Given the description of an element on the screen output the (x, y) to click on. 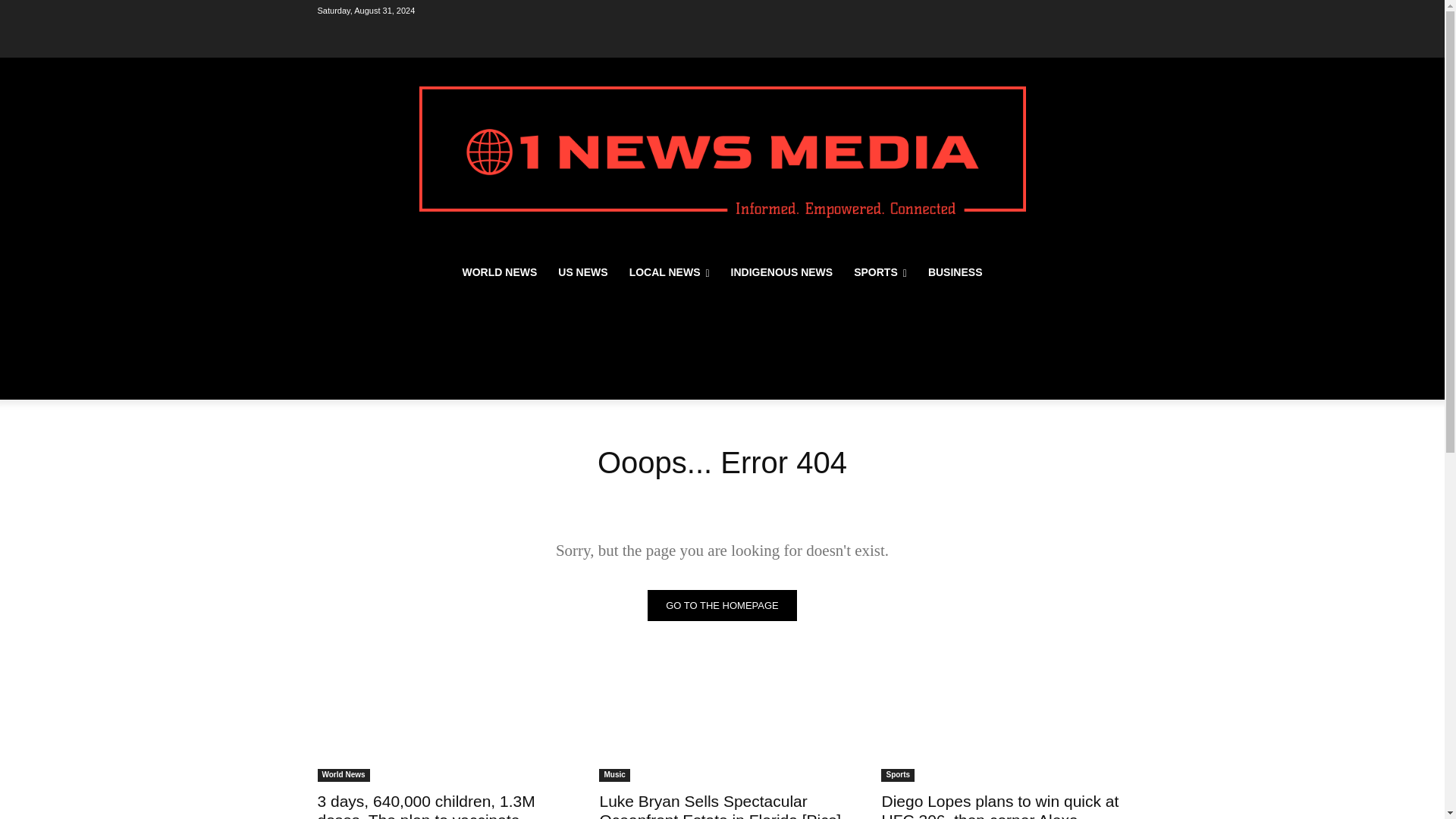
US NEWS (582, 271)
GO TO THE HOMEPAGE (721, 604)
BUSINESS (954, 271)
Go to the homepage (721, 604)
World News (343, 775)
LOCAL NEWS (669, 271)
Sports (897, 775)
Music (613, 775)
